Given the description of an element on the screen output the (x, y) to click on. 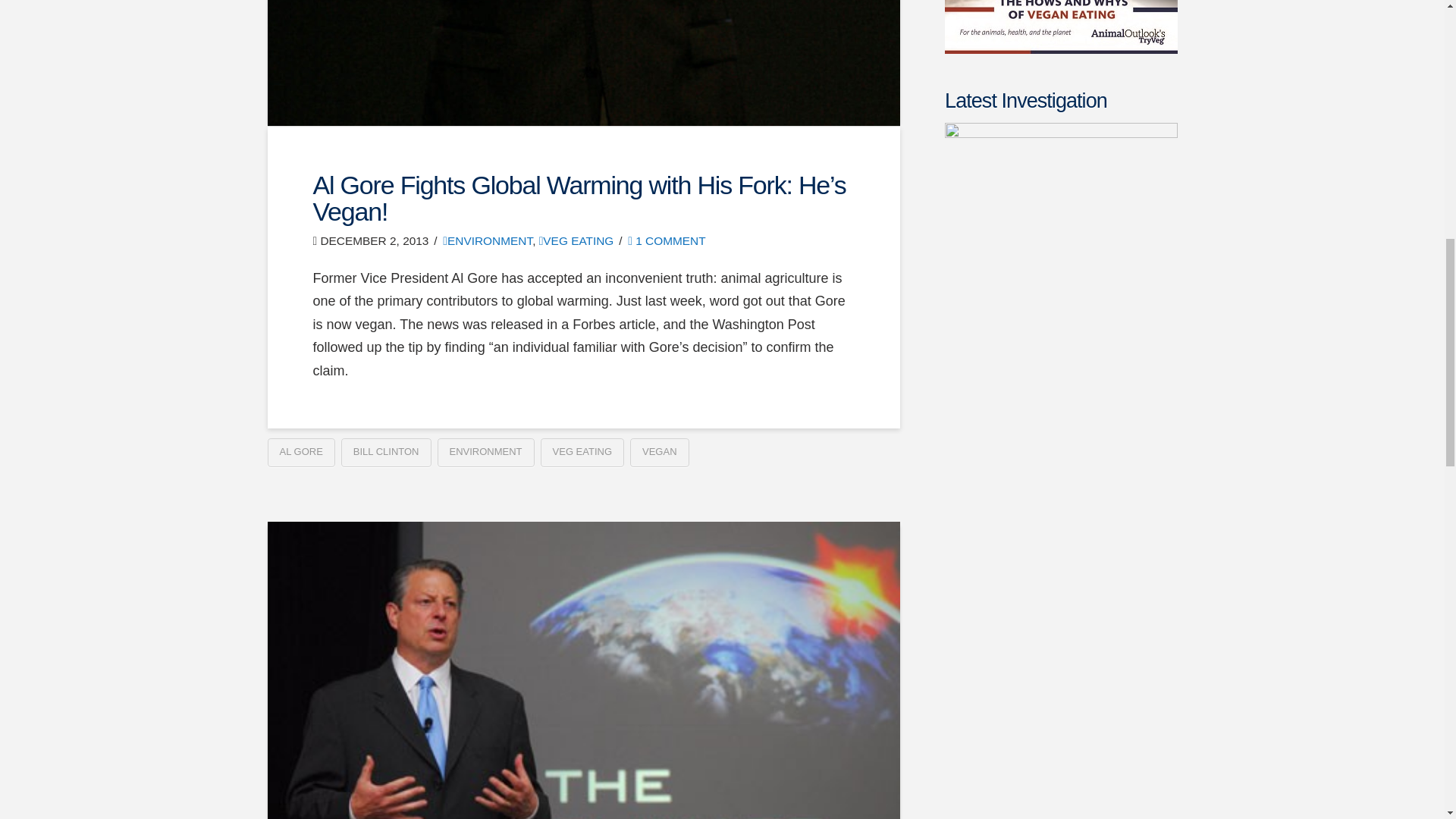
AL GORE (300, 452)
Free Download (1060, 26)
VEG EATING (576, 240)
1 COMMENT (665, 240)
ENVIRONMENT (487, 240)
BILL CLINTON (385, 452)
